Given the description of an element on the screen output the (x, y) to click on. 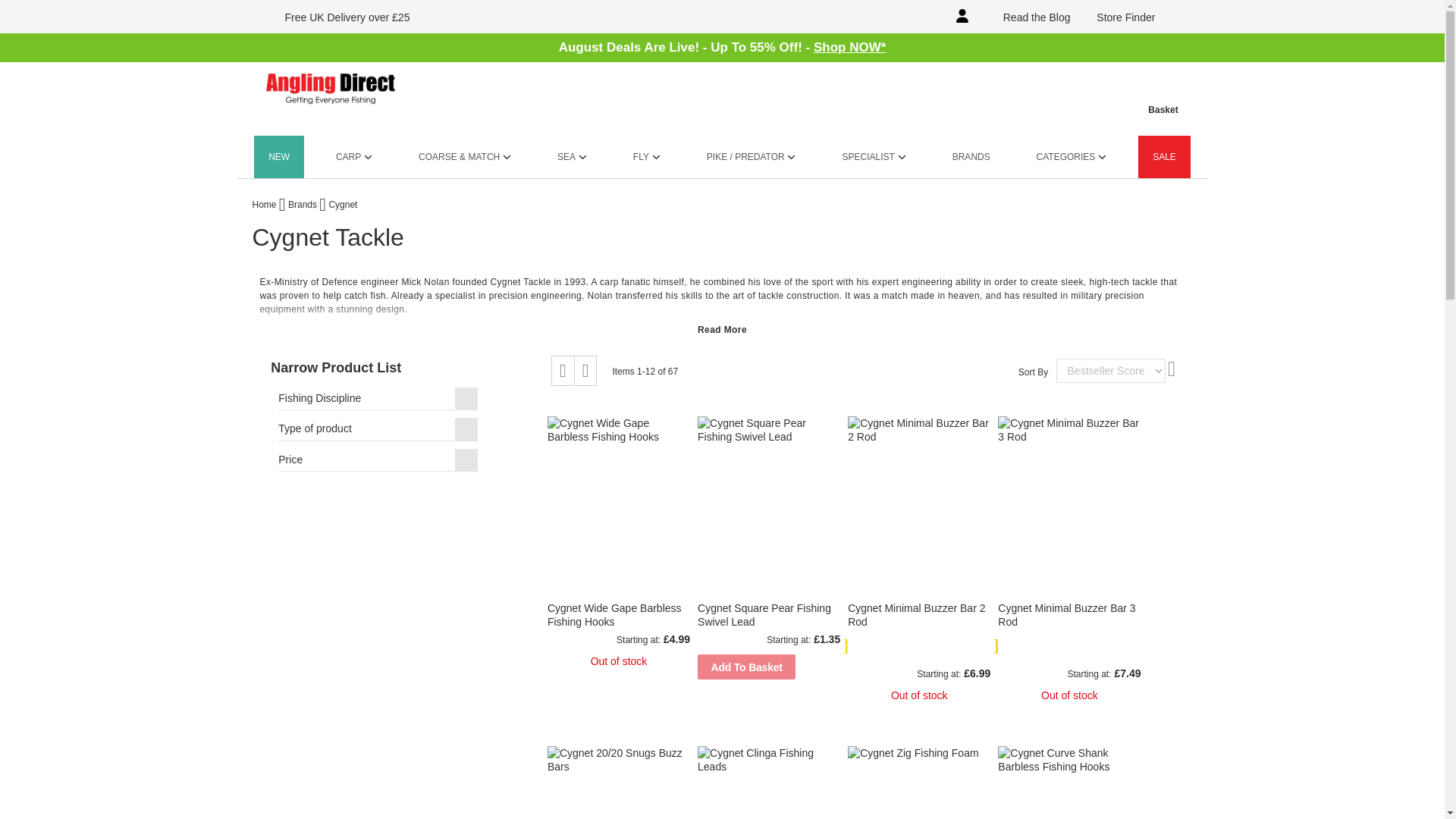
Cygnet Tackle Website (519, 281)
Cygnet Rod Support (1089, 330)
Read the Blog (1027, 16)
NEW (278, 156)
Find Angling Direct stores in your area (1115, 16)
Cygnet Specialist Fishing Range (779, 344)
Store Finder (1115, 16)
Read the Angling Direct Blog (1027, 16)
Cygnet Predator Fishing Range (715, 344)
Delivery information (338, 16)
